Given the description of an element on the screen output the (x, y) to click on. 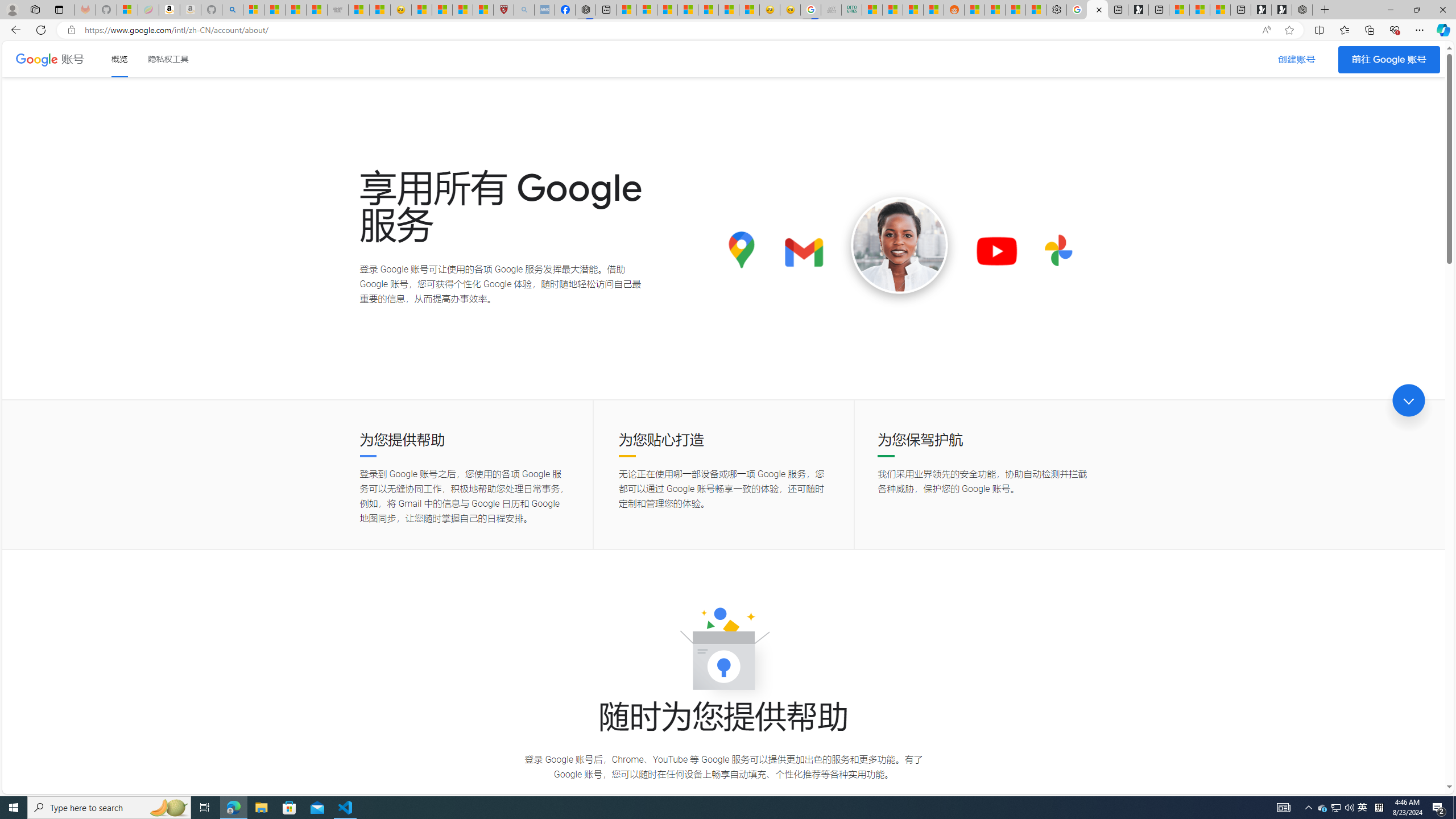
R******* | Trusted Community Engagement and Contributions (974, 9)
